Given the description of an element on the screen output the (x, y) to click on. 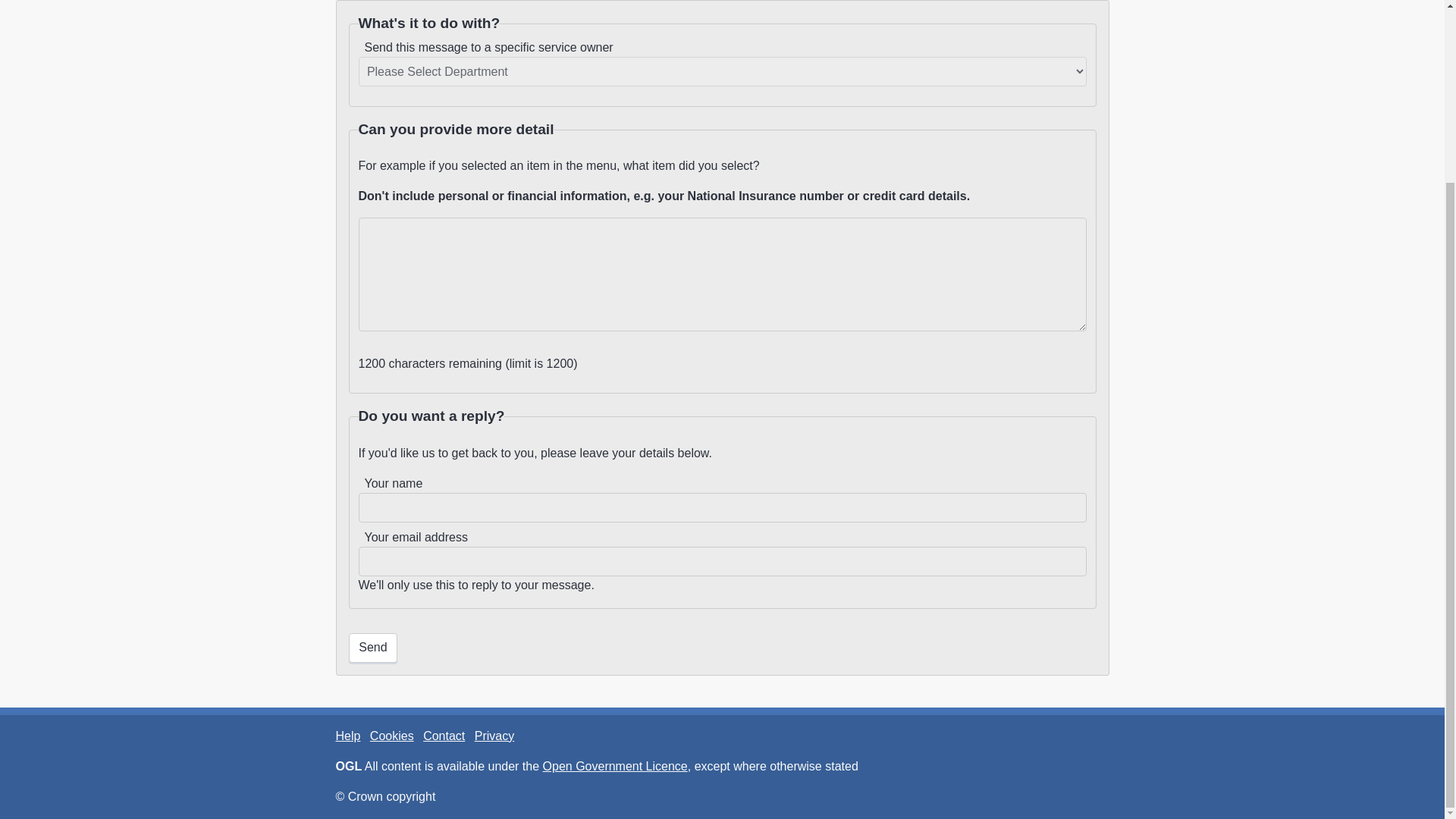
Cookies (391, 735)
Send (373, 647)
Help (346, 735)
Contact (443, 735)
Privacy (493, 735)
Send (373, 647)
Open Government Licence (615, 766)
